Given the description of an element on the screen output the (x, y) to click on. 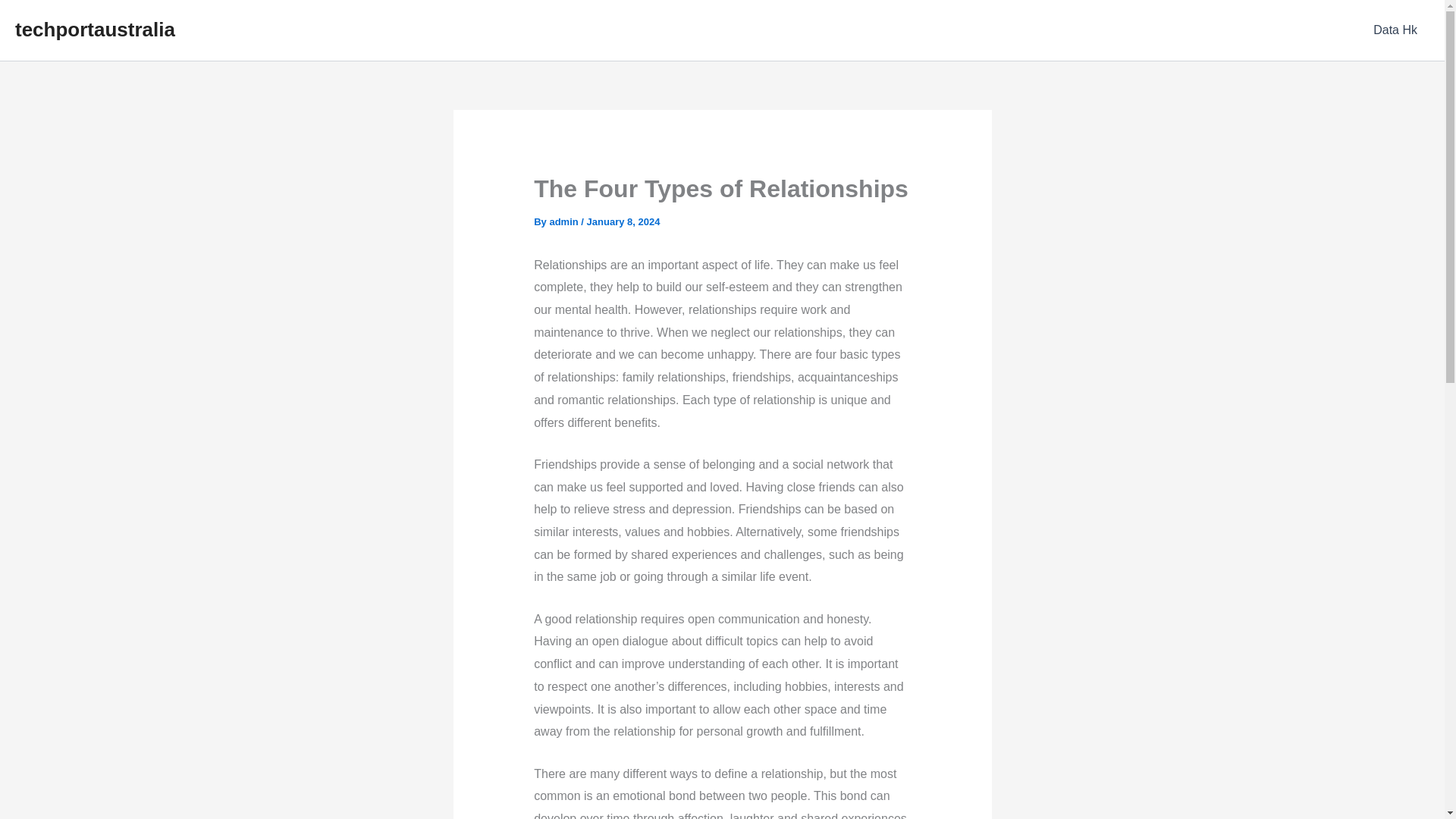
View all posts by admin (564, 221)
admin (564, 221)
Data Hk (1395, 30)
techportaustralia (94, 29)
